Given the description of an element on the screen output the (x, y) to click on. 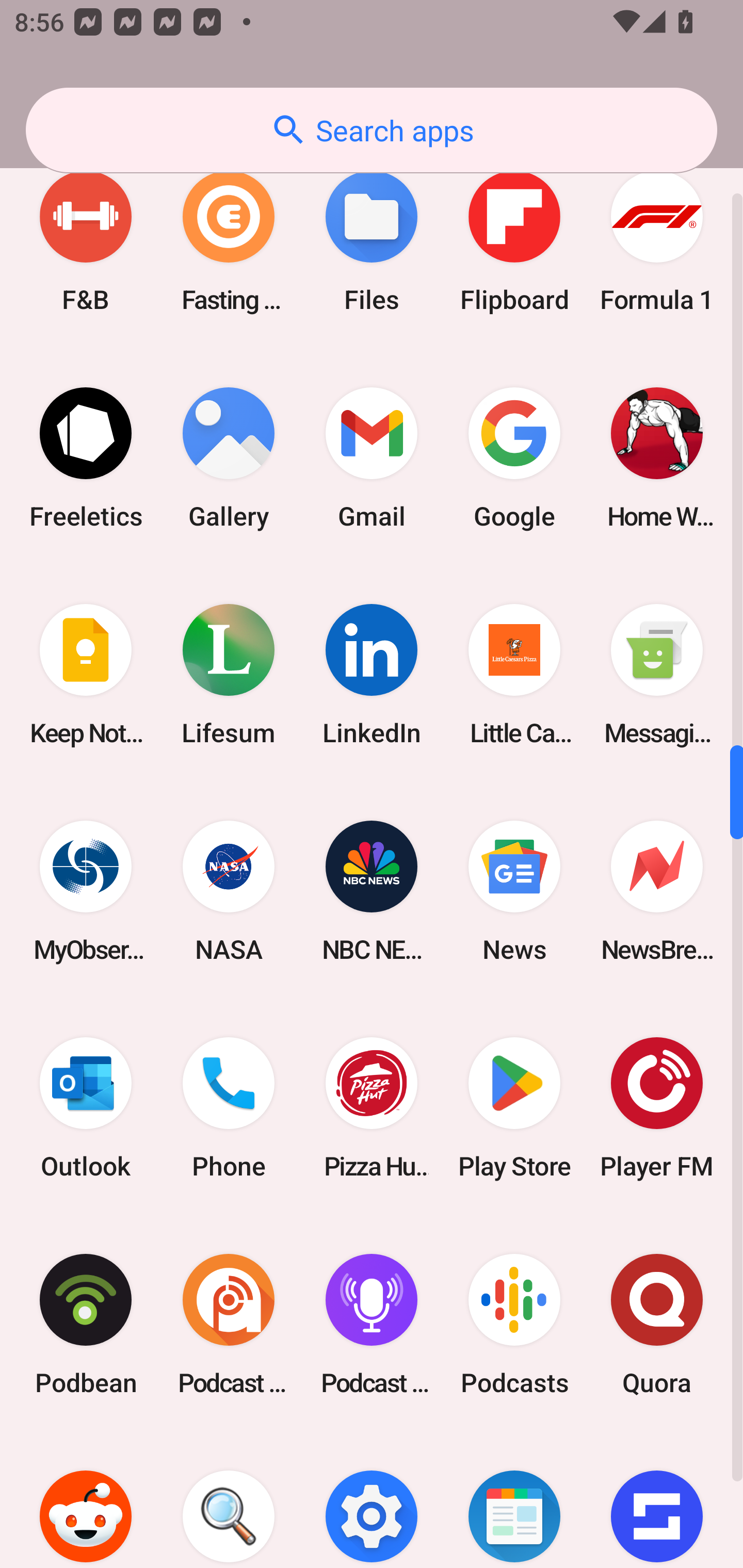
  Search apps (371, 130)
F&B (85, 241)
Fasting Coach (228, 241)
Files (371, 241)
Flipboard (514, 241)
Formula 1 (656, 241)
Freeletics (85, 457)
Gallery (228, 457)
Gmail (371, 457)
Google (514, 457)
Home Workout (656, 457)
Keep Notes (85, 674)
Lifesum (228, 674)
LinkedIn (371, 674)
Little Caesars Pizza (514, 674)
Messaging (656, 674)
MyObservatory (85, 891)
NASA (228, 891)
NBC NEWS (371, 891)
News (514, 891)
NewsBreak (656, 891)
Outlook (85, 1108)
Phone (228, 1108)
Pizza Hut HK & Macau (371, 1108)
Play Store (514, 1108)
Player FM (656, 1108)
Podbean (85, 1324)
Podcast Addict (228, 1324)
Podcast Player (371, 1324)
Podcasts (514, 1324)
Quora (656, 1324)
Reddit (85, 1500)
Search (228, 1500)
Settings (371, 1500)
SmartNews (514, 1500)
Sofascore (656, 1500)
